Given the description of an element on the screen output the (x, y) to click on. 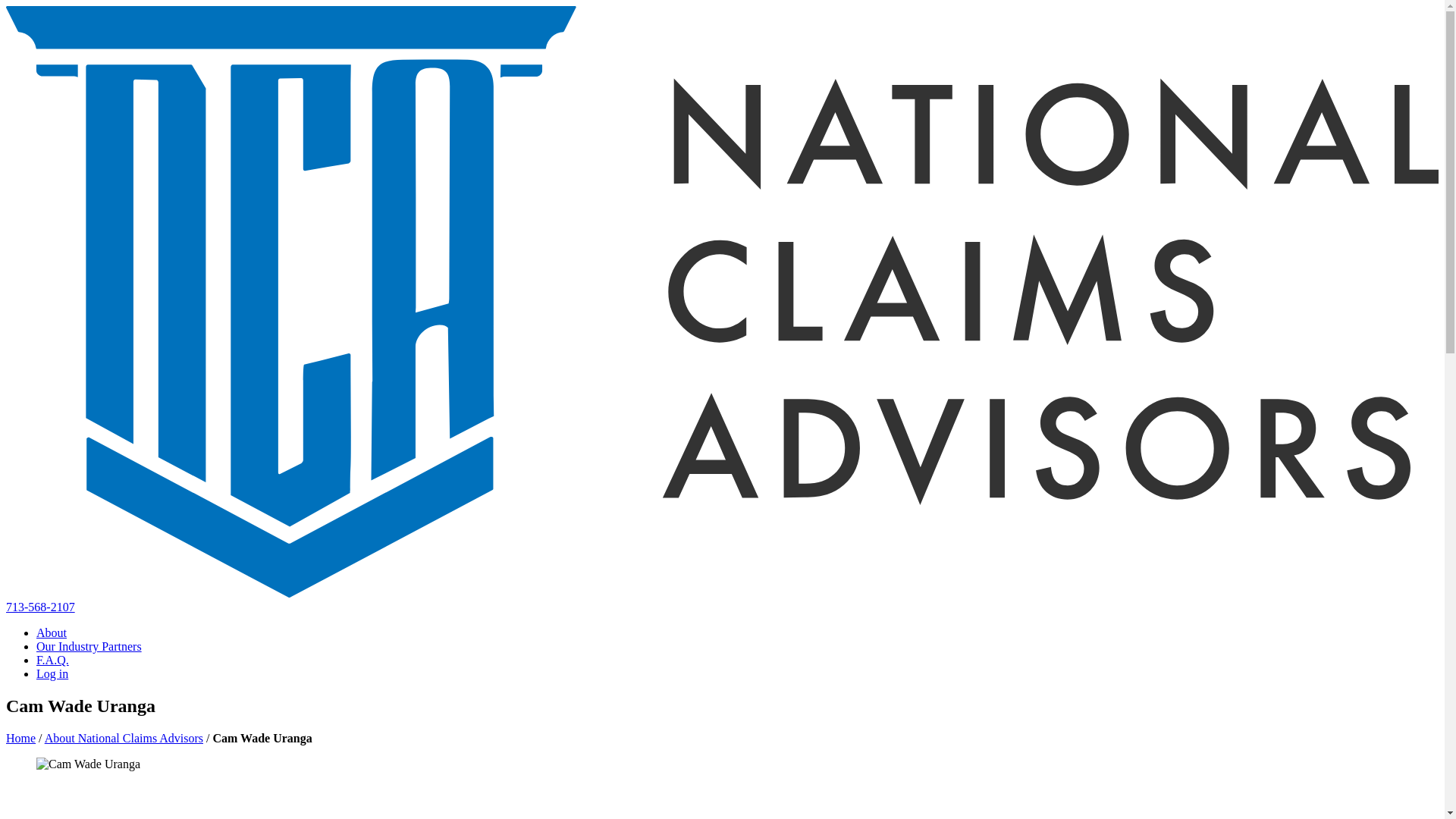
Our Industry Partners (88, 645)
About National Claims Advisors (124, 738)
F.A.Q. (52, 659)
Log in (52, 673)
713-568-2107 (40, 606)
About (51, 632)
Home (19, 738)
